Given the description of an element on the screen output the (x, y) to click on. 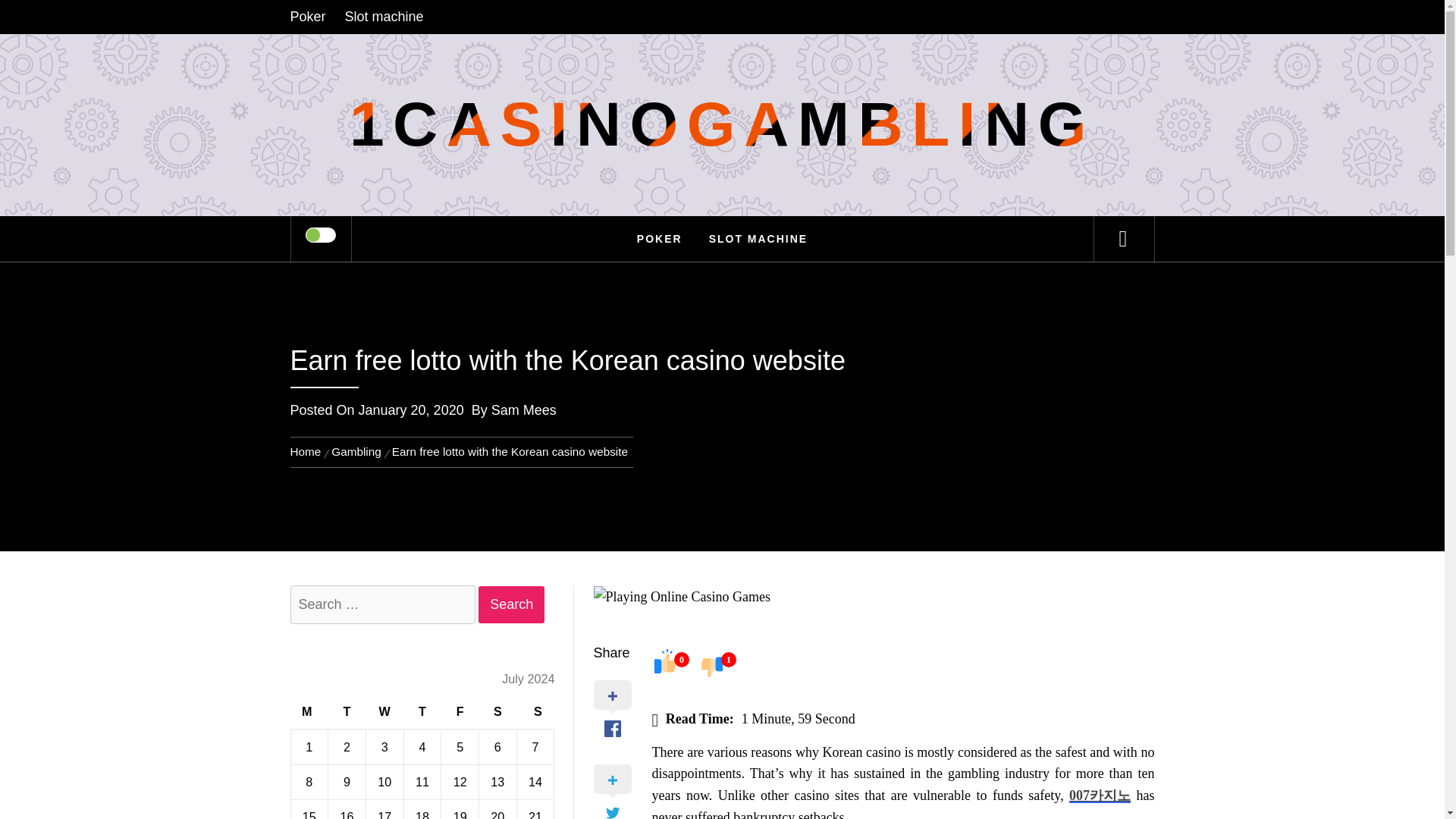
Wednesday (384, 712)
Thursday (422, 712)
Search (511, 604)
Tuesday (347, 712)
Sam Mees (524, 409)
Sunday (535, 712)
Search (511, 604)
Friday (460, 712)
Slot machine (383, 17)
1CASINOGAMBLING (721, 123)
Poker (311, 17)
Search (797, 33)
POKER (660, 238)
Gambling (355, 451)
Monday (309, 712)
